Given the description of an element on the screen output the (x, y) to click on. 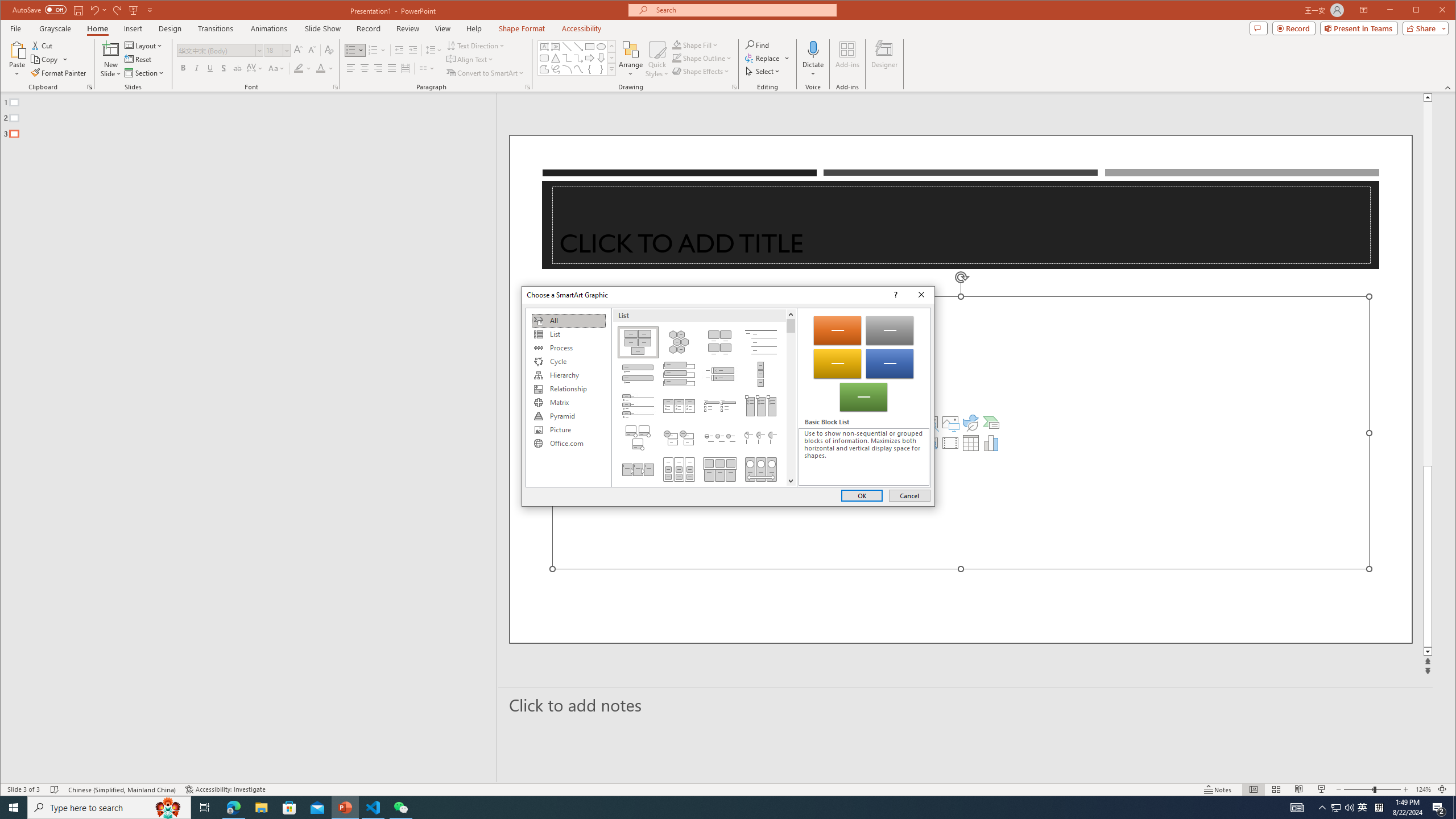
Action Center, 2 new notifications (1439, 807)
